Given the description of an element on the screen output the (x, y) to click on. 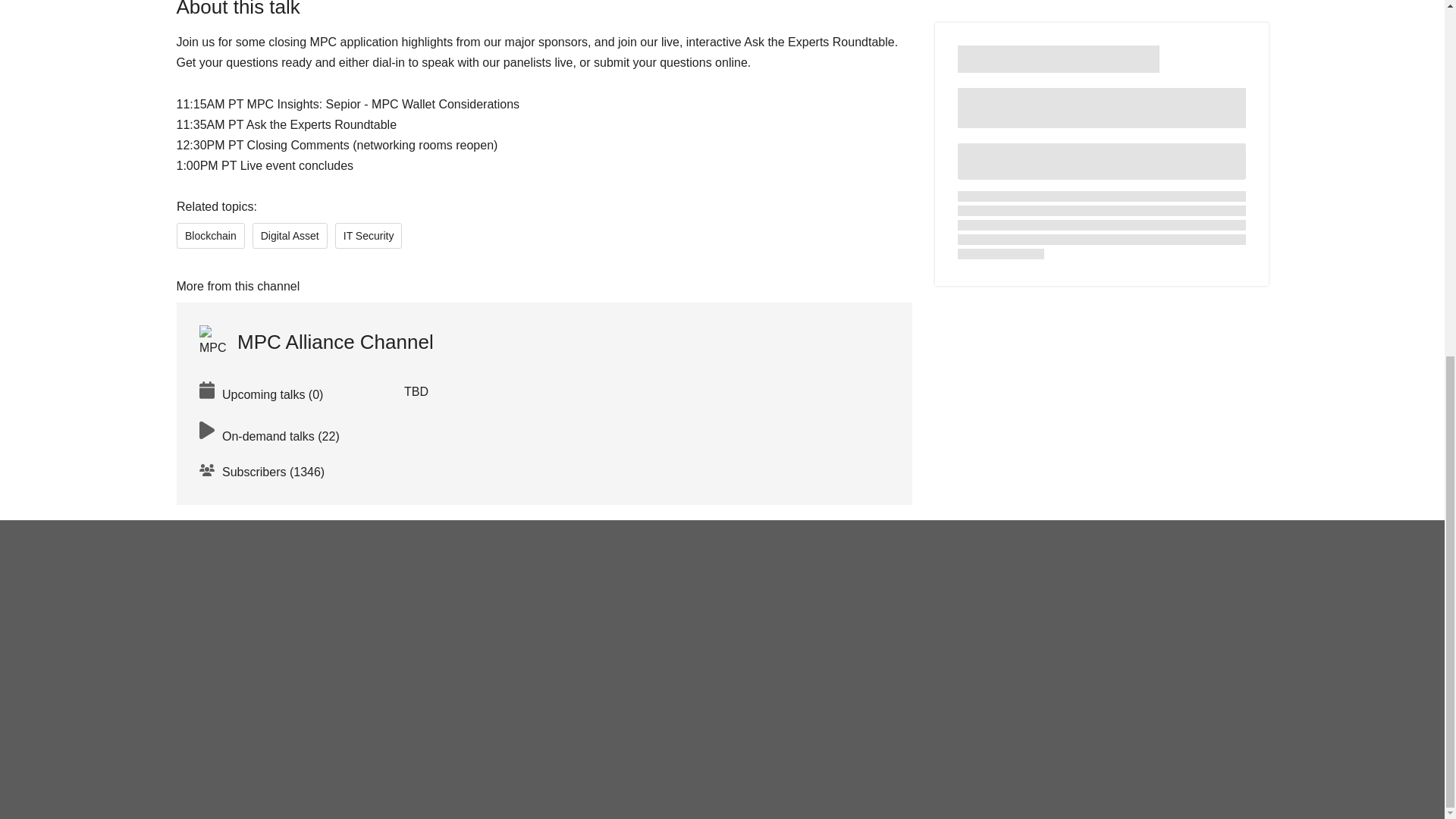
IT Security (367, 235)
Digital Asset (288, 235)
MPC Alliance Channel (315, 341)
Visit MPC Alliance Channel's channel (315, 341)
Blockchain (210, 235)
